Given the description of an element on the screen output the (x, y) to click on. 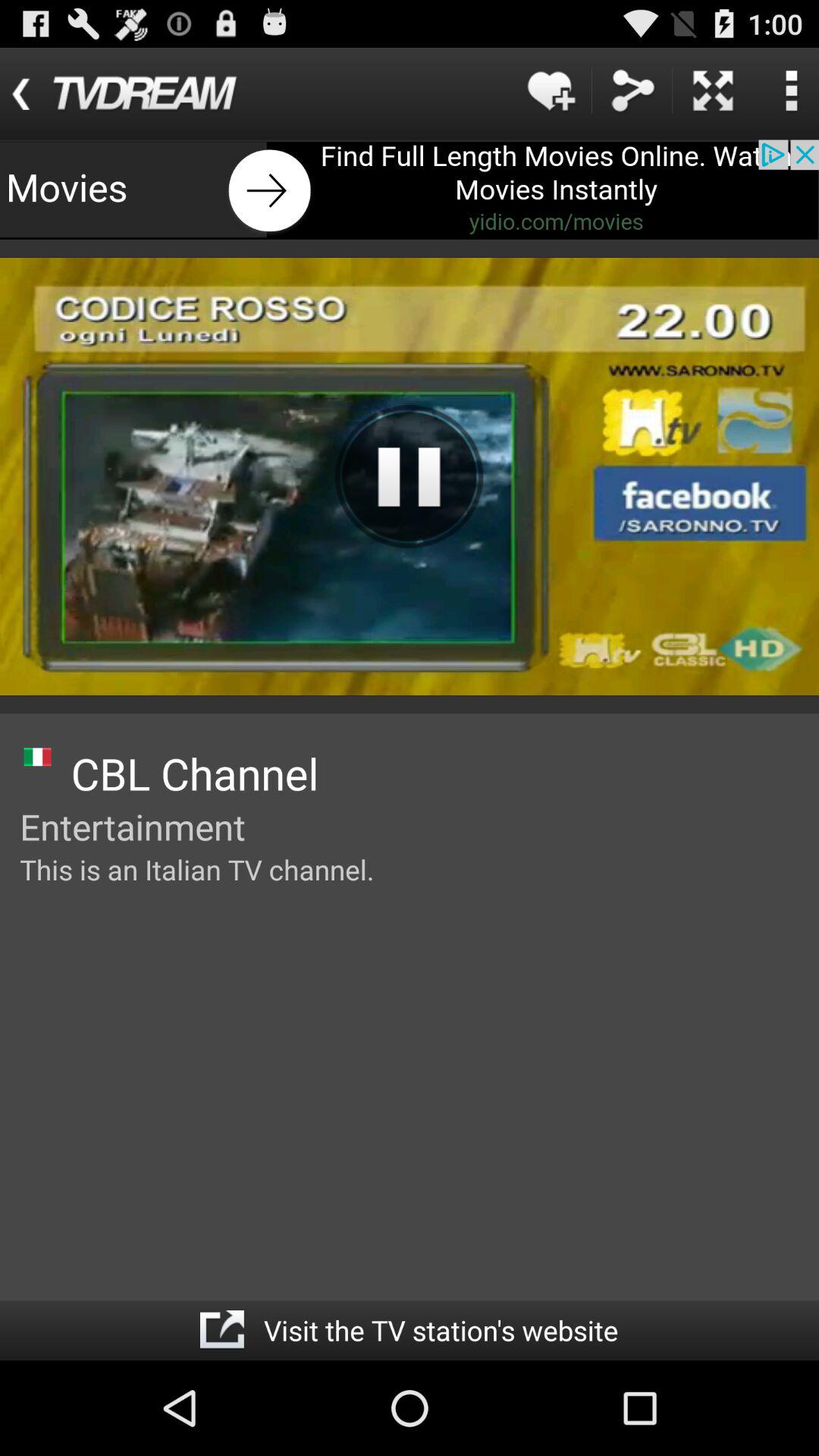
more (712, 90)
